Given the description of an element on the screen output the (x, y) to click on. 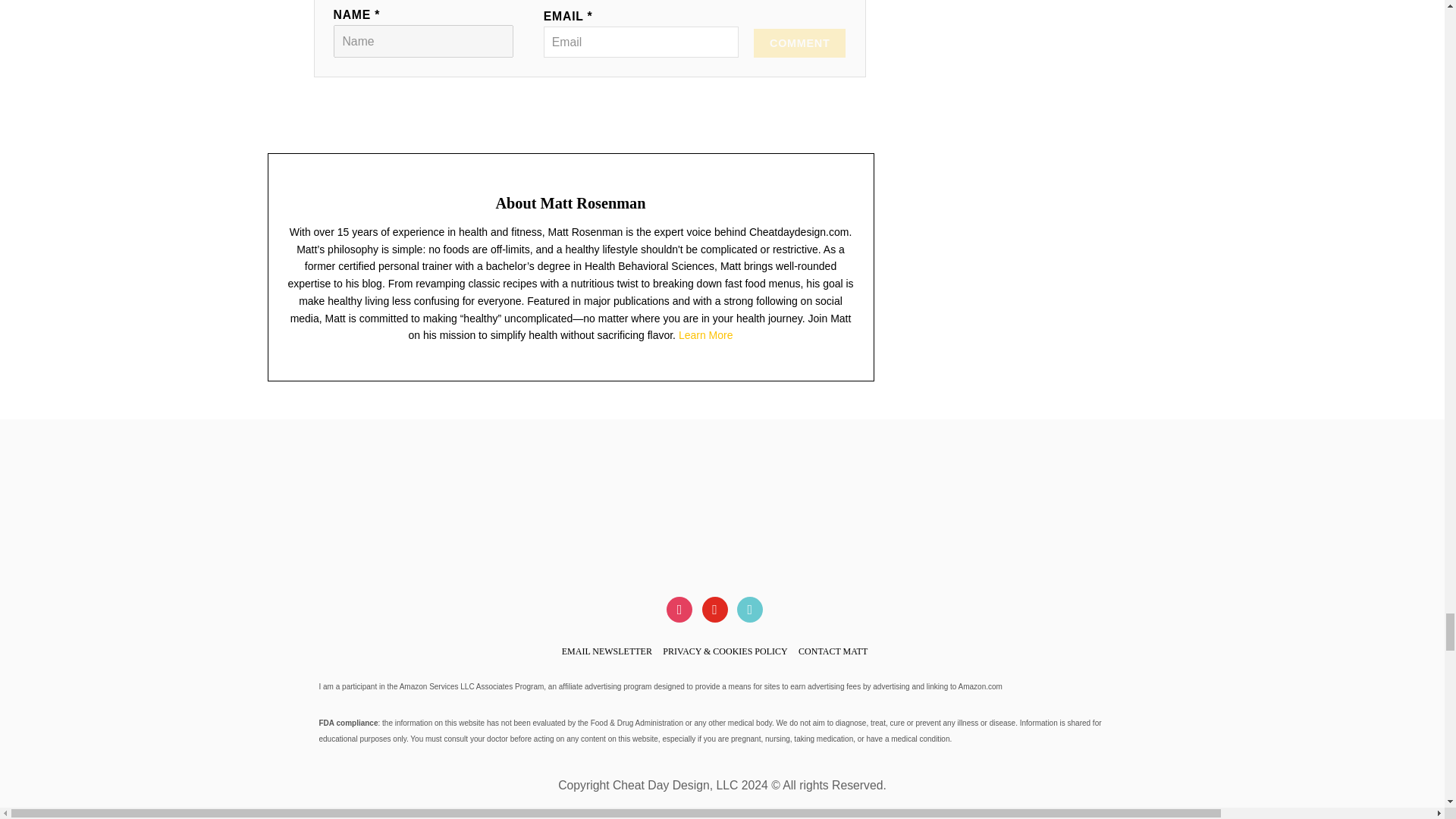
Instagram (679, 608)
Default Label (714, 608)
Default Label (749, 608)
